Given the description of an element on the screen output the (x, y) to click on. 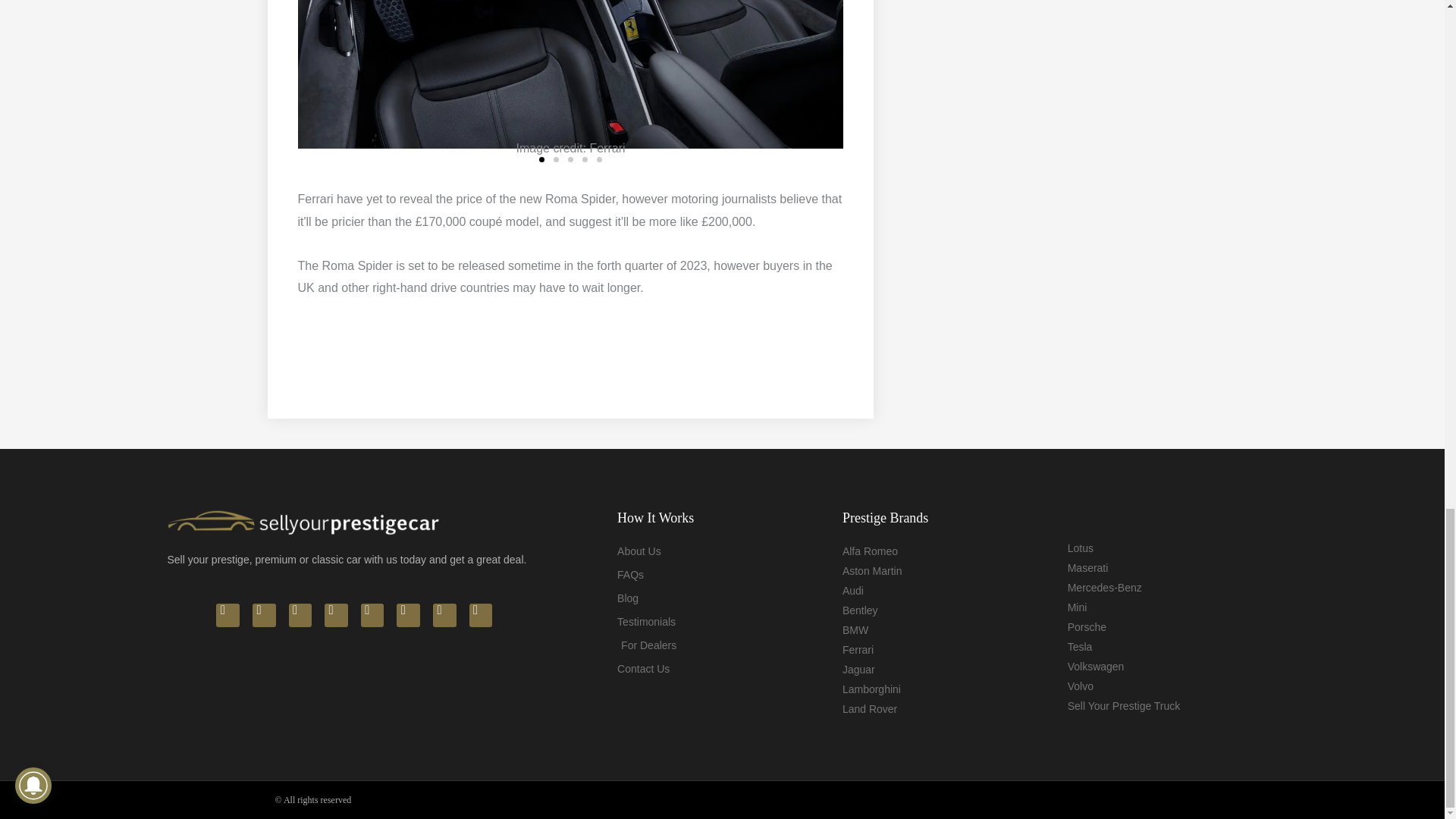
Linkedin (335, 615)
Instagram (300, 615)
Facebook-f (263, 615)
Whatsapp (227, 615)
